Given the description of an element on the screen output the (x, y) to click on. 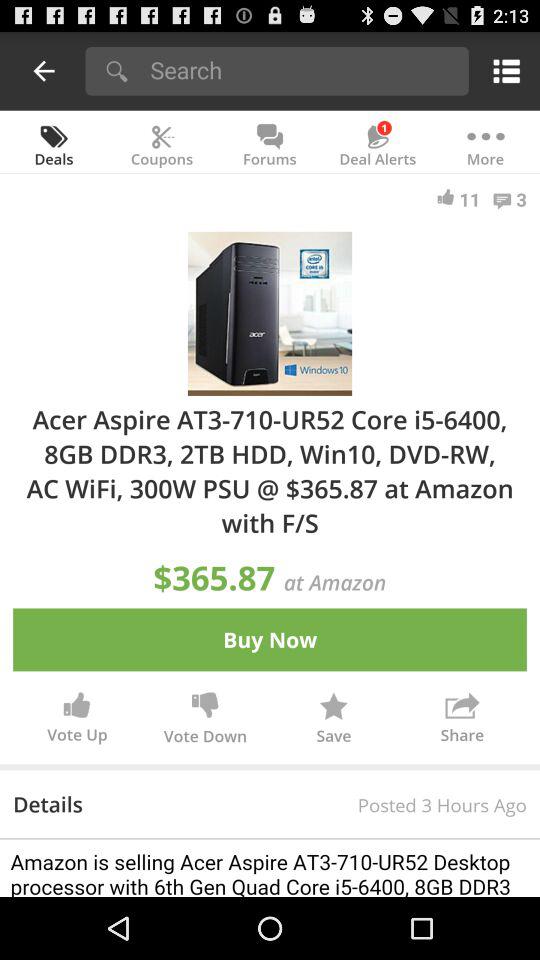
scroll until the acer aspire at3 app (269, 470)
